Given the description of an element on the screen output the (x, y) to click on. 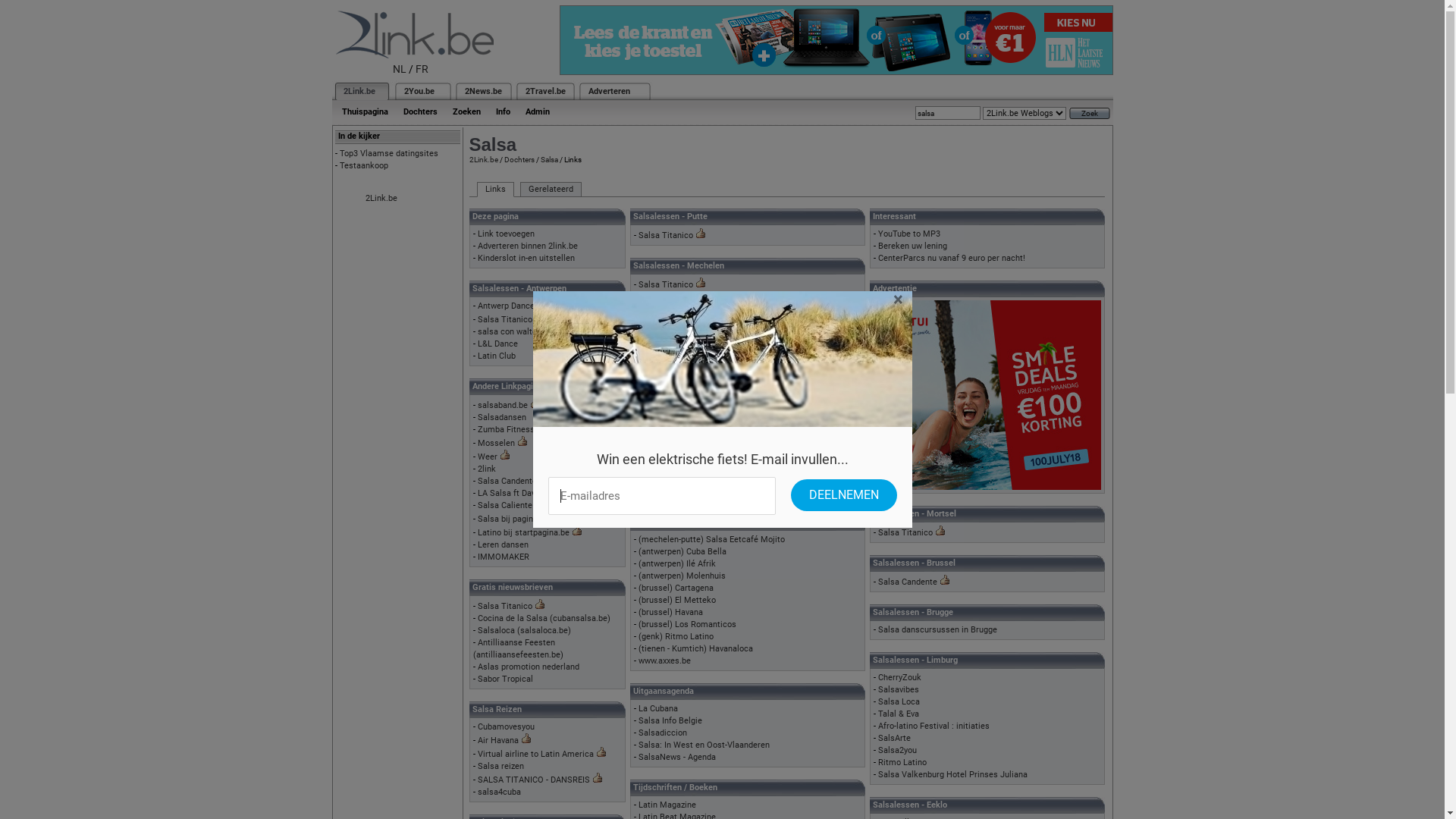
Vakantie Cuba Element type: text (665, 370)
Salsa: In West en Oost-Vlaanderen Element type: text (703, 744)
Salsa Loca Element type: text (898, 701)
2News.be Element type: text (482, 91)
SalsArte Element type: text (894, 738)
Afro-latino Festival : initiaties Element type: text (933, 726)
LA Salsa ft David Maes Element type: text (521, 493)
Thuispagina Element type: text (364, 111)
Salsa Titanico Element type: text (504, 606)
Salsa Titanico Element type: text (665, 235)
Salsa Valkenburg Hotel Prinses Juliana Element type: text (952, 774)
Adverteren Element type: text (609, 91)
(genk) Ritmo Latino Element type: text (675, 636)
Dochters Element type: text (420, 111)
salsa con walter Element type: text (508, 331)
Adverteren binnen 2link.be Element type: text (527, 246)
Salsadiccion Element type: text (662, 732)
Talal & Eva Element type: text (898, 713)
2Travel.be Element type: text (544, 91)
Zoek Element type: text (1089, 113)
Cubamovesyou Element type: text (505, 726)
Salsa muziek downloaden Element type: text (687, 491)
Antwerp Dance Company Element type: text (524, 305)
Weer Element type: text (487, 456)
2Link.be Element type: text (358, 91)
Zumba Fitness Element type: text (505, 429)
Admin Element type: text (536, 111)
Salsa Info Belgie Element type: text (670, 720)
Mosselen Element type: text (495, 443)
Bereken uw lening Element type: text (912, 246)
Zoeken Element type: text (465, 111)
Ritmo Latino Element type: text (902, 762)
Salsa reizen Element type: text (500, 766)
2Link.be Element type: text (482, 159)
Kinderslot in-en uitstellen Element type: text (525, 258)
Aslas promotion nederland Element type: text (528, 666)
www.latin-ballroom.be Element type: text (679, 358)
Dochters Element type: text (518, 159)
Salsa Titanico Element type: text (504, 319)
Salsa Caliente Element type: text (504, 505)
salsaband.be Element type: text (502, 405)
Testaankoop Element type: text (363, 165)
Top3 Vlaamse datingsites Element type: text (388, 153)
CenterParcs nu vanaf 9 euro per nacht! Element type: text (951, 258)
2link Element type: text (486, 468)
Links Element type: text (494, 189)
Salsa Element type: text (548, 159)
(brussel) Havana Element type: text (670, 612)
Salsa danscursussen in Brugge Element type: text (937, 629)
Cocina de la Salsa (cubansalsa.be) Element type: text (543, 618)
Salsa Titanico Party Element type: text (676, 333)
Latino bij startpagina.be Element type: text (523, 532)
Bertus De Graaf Element type: text (668, 419)
Fiesta de Salsa Caliente Element type: text (684, 346)
FR Element type: text (421, 68)
Salsa Titanico Element type: text (665, 284)
www.axxes.be Element type: text (664, 660)
(brussel) El Metteko Element type: text (676, 600)
Salsa2you Element type: text (897, 750)
salsa4cuba Element type: text (498, 792)
Link toevoegen Element type: text (505, 233)
Latin Club Element type: text (496, 355)
IMMOMAKER Element type: text (503, 556)
YouTube to MP3 Element type: text (909, 233)
Salsa Titanico Element type: text (905, 532)
Virtual airline to Latin America Element type: text (535, 754)
Salsaloca (salsaloca.be) Element type: text (524, 630)
Latin Magazine Element type: text (667, 804)
Un monton de Estrellas Element type: text (682, 479)
Salsavibes Element type: text (898, 689)
Salsa Candente Element type: text (506, 481)
Salsadansen Element type: text (501, 417)
2Link.be Element type: text (381, 198)
(brussel) Cartagena Element type: text (675, 588)
2You.be Element type: text (418, 91)
SALSA TITANICO - DANSREIS Element type: text (533, 779)
(antwerpen) Cuba Bella Element type: text (682, 551)
La Cubana Element type: text (657, 708)
Air Havana Element type: text (497, 740)
CherryZouk Element type: text (899, 677)
(tienen - Kumtich) Havanaloca Element type: text (695, 648)
SalsaNews - Agenda Element type: text (676, 757)
NL Element type: text (399, 68)
Antilliaanse Feesten (antilliaansefeesten.be) Element type: text (518, 648)
Salsa Candente Element type: text (907, 581)
Leren dansen Element type: text (502, 544)
Sabor Tropical Element type: text (505, 679)
Gerelateerd Element type: text (550, 189)
Salsa bij pagina.nl Element type: text (511, 519)
(brussel) Los Romanticos Element type: text (687, 624)
L&L Dance Element type: text (497, 343)
(antwerpen) Molenhuis Element type: text (681, 575)
Info Element type: text (502, 111)
